Given the description of an element on the screen output the (x, y) to click on. 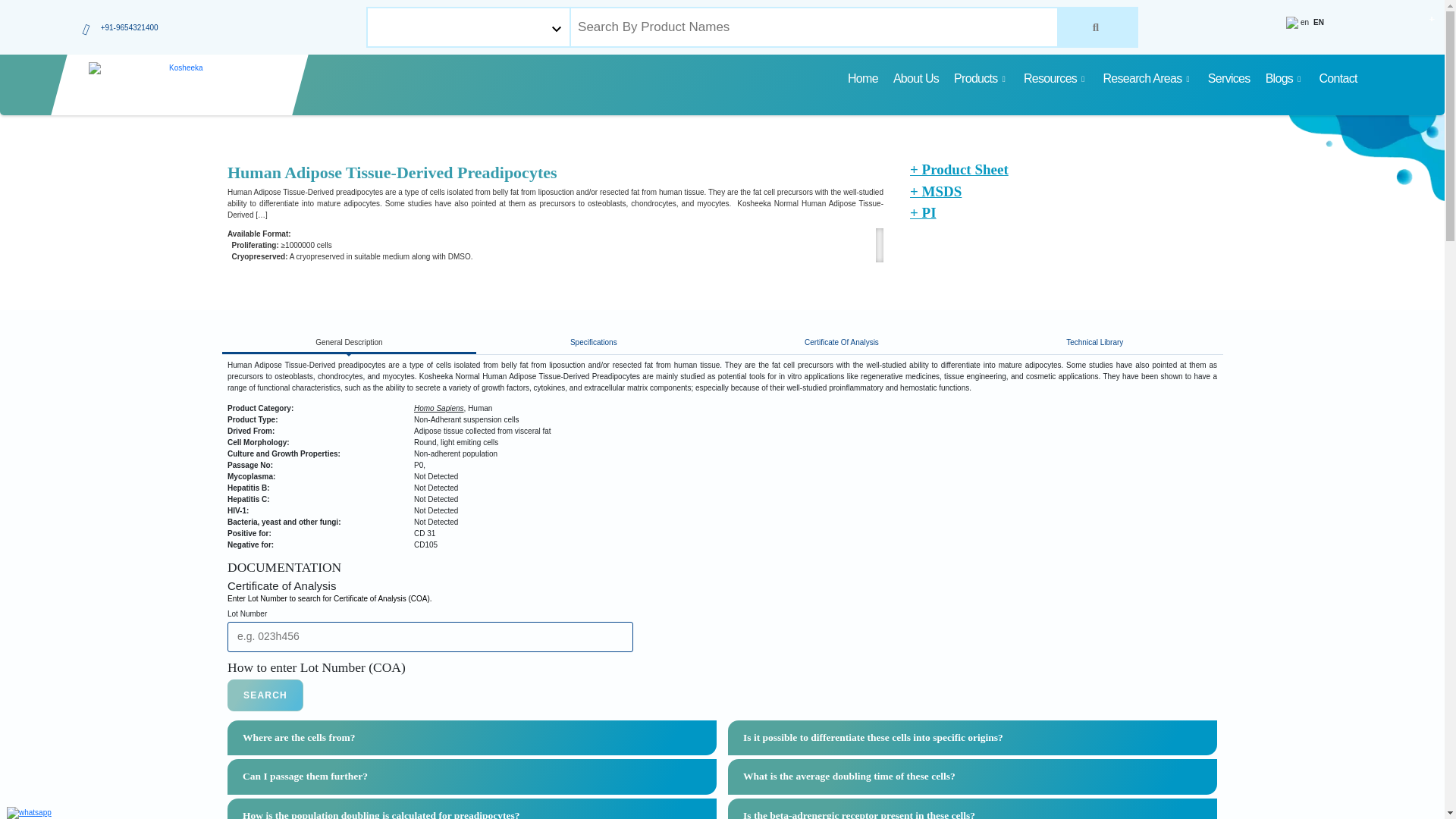
Home (862, 78)
Products (981, 78)
About Us (915, 78)
